Given the description of an element on the screen output the (x, y) to click on. 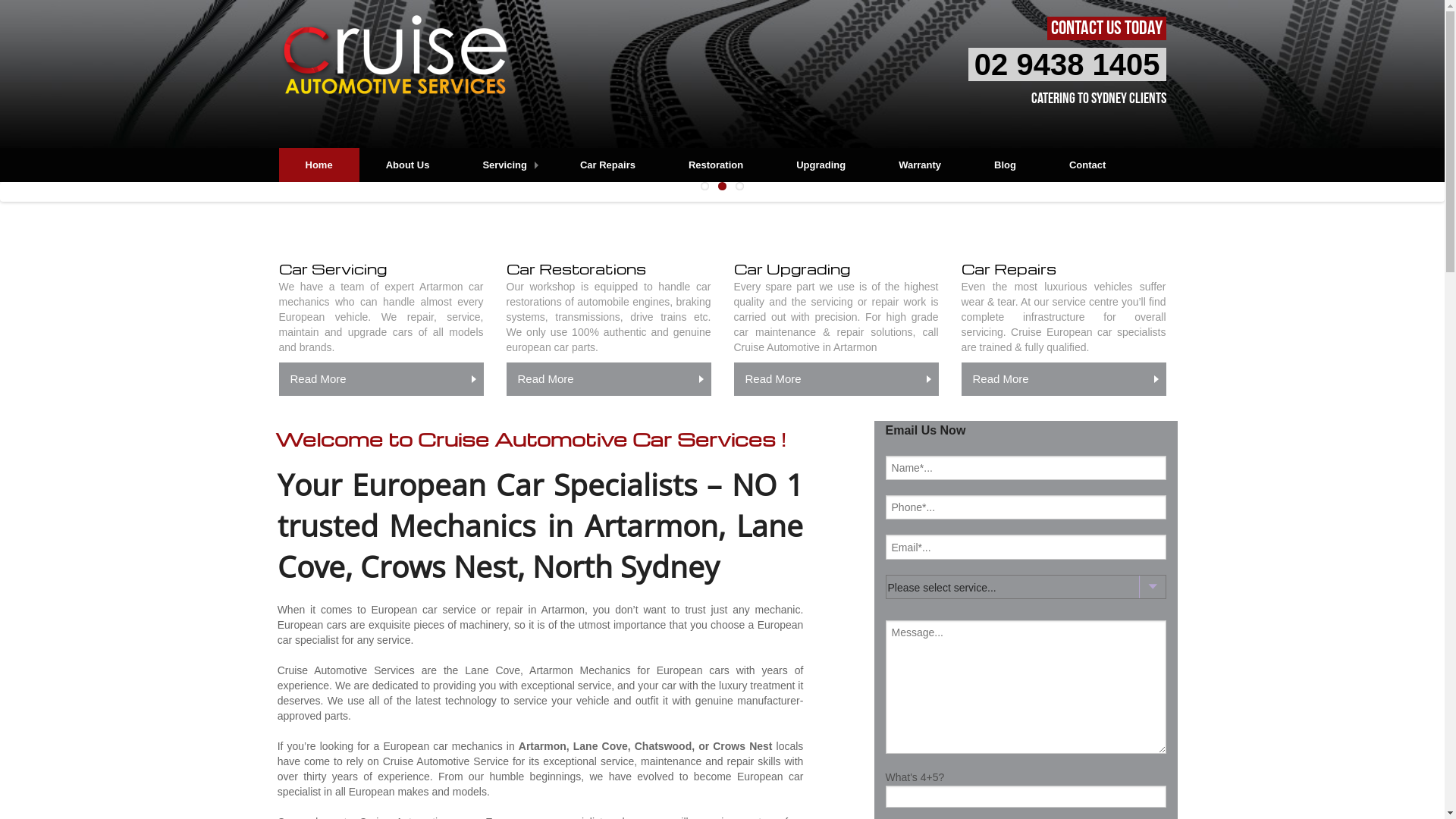
Cruise Automotive Element type: hover (392, 59)
02 9438 1405 Element type: text (1067, 64)
Read More Element type: text (608, 378)
Upgrading Element type: text (820, 164)
Contact Element type: text (1087, 164)
Warranty Element type: text (919, 164)
3 Element type: text (739, 186)
Restoration Element type: text (715, 164)
Home Element type: text (319, 164)
Read More Element type: text (381, 378)
Servicing Element type: text (504, 164)
About Us Element type: text (407, 164)
Read More Element type: text (836, 378)
Blog Element type: text (1004, 164)
2 Element type: text (722, 186)
Read More Element type: text (1063, 378)
Car Repairs Element type: text (607, 164)
1 Element type: text (704, 186)
